Given the description of an element on the screen output the (x, y) to click on. 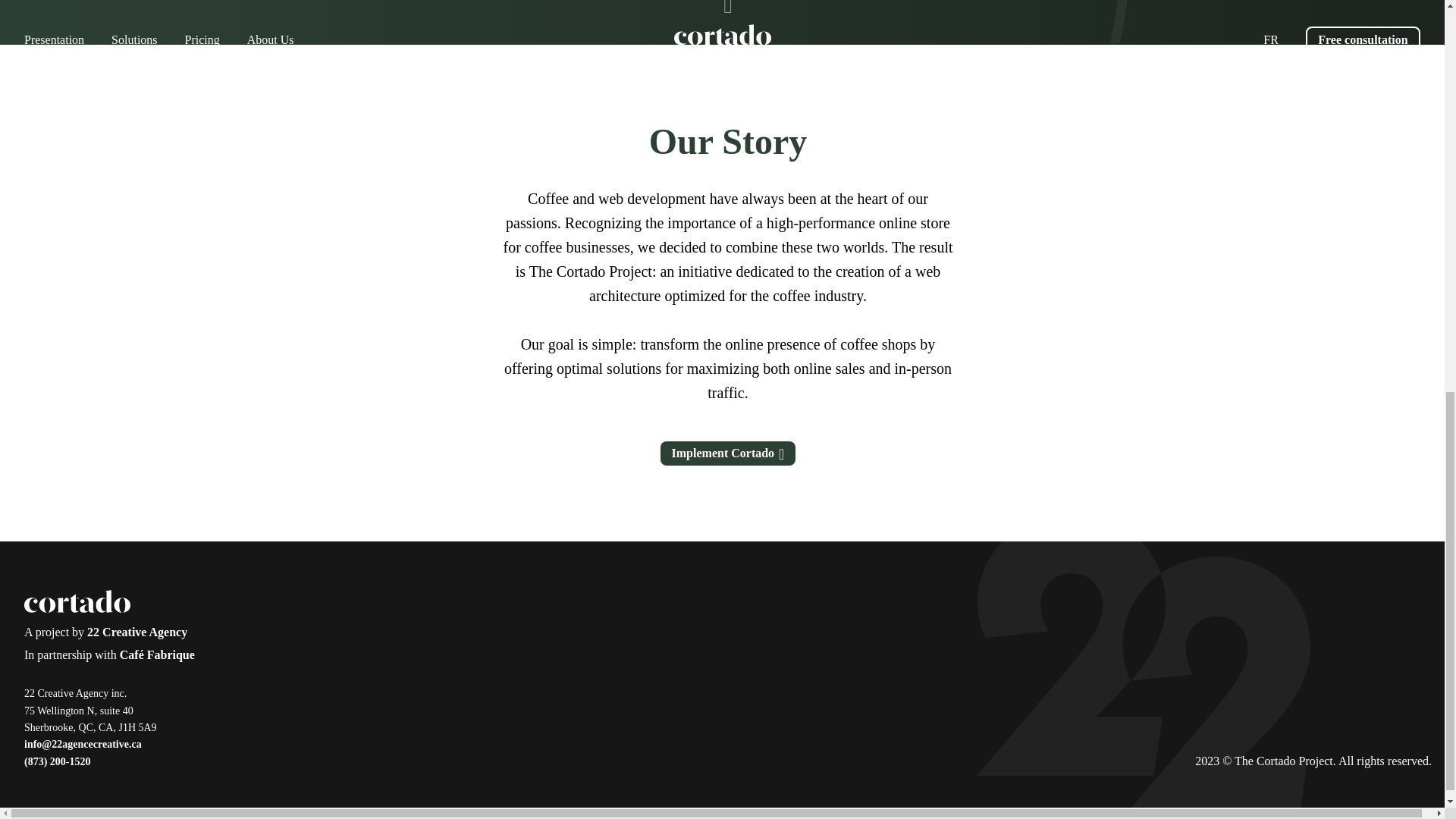
Email (82, 744)
Projet Cortado (77, 604)
22 Creative Agency (137, 631)
22 Creative Agency (137, 631)
